Given the description of an element on the screen output the (x, y) to click on. 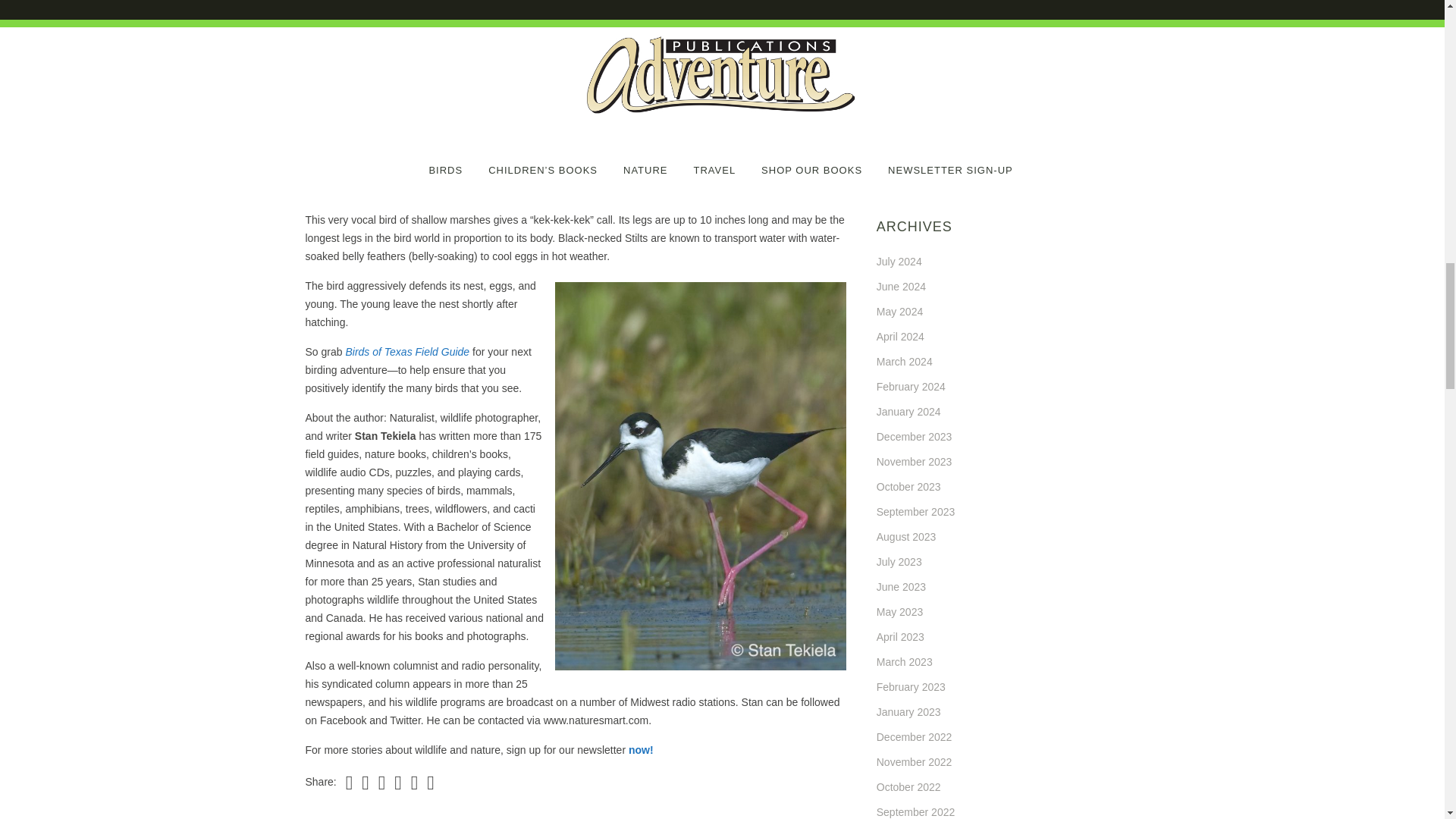
now! (640, 749)
Birds of Texas Field Guide (406, 351)
